Given the description of an element on the screen output the (x, y) to click on. 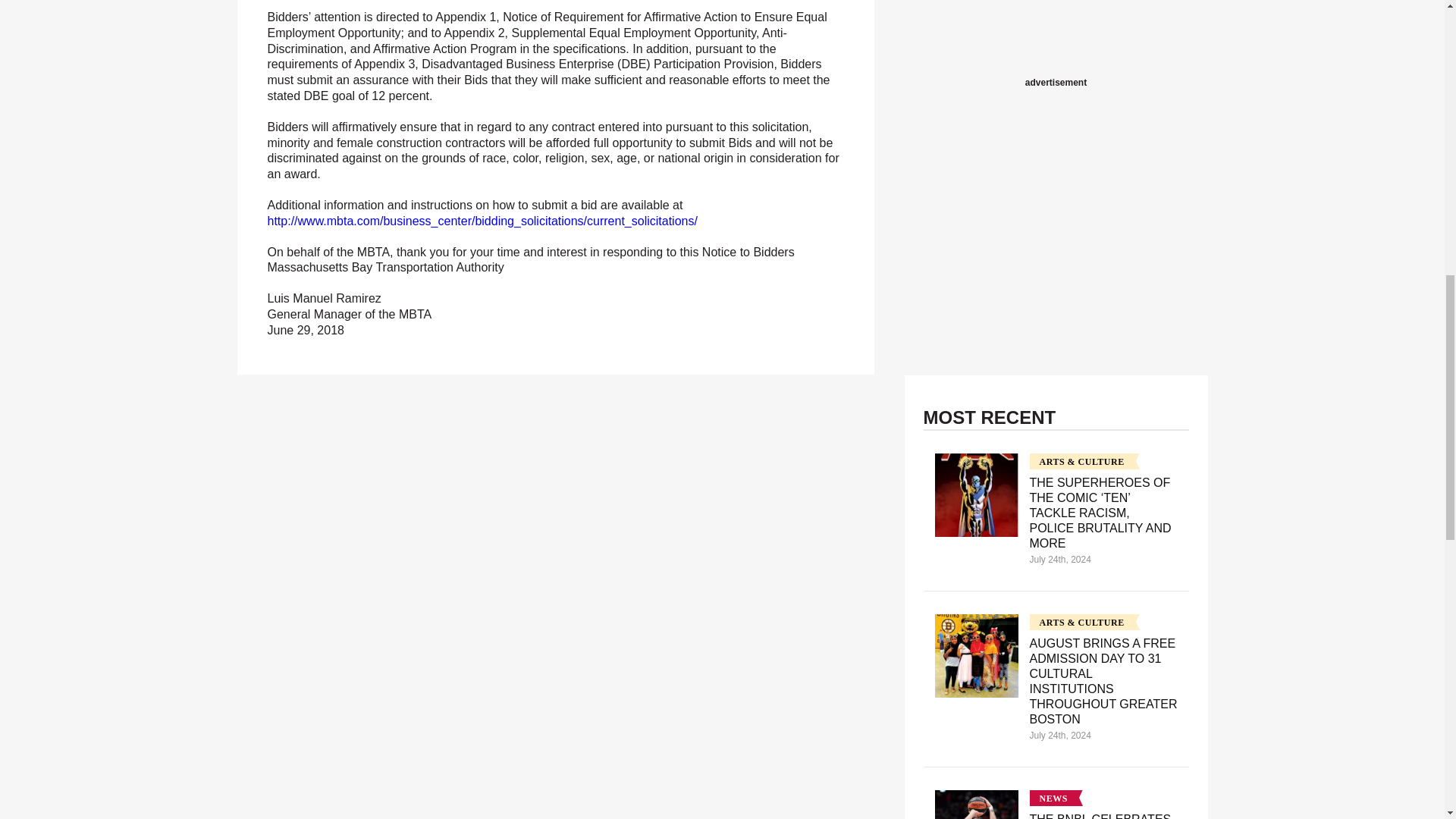
3rd party ad content (1055, 36)
